Given the description of an element on the screen output the (x, y) to click on. 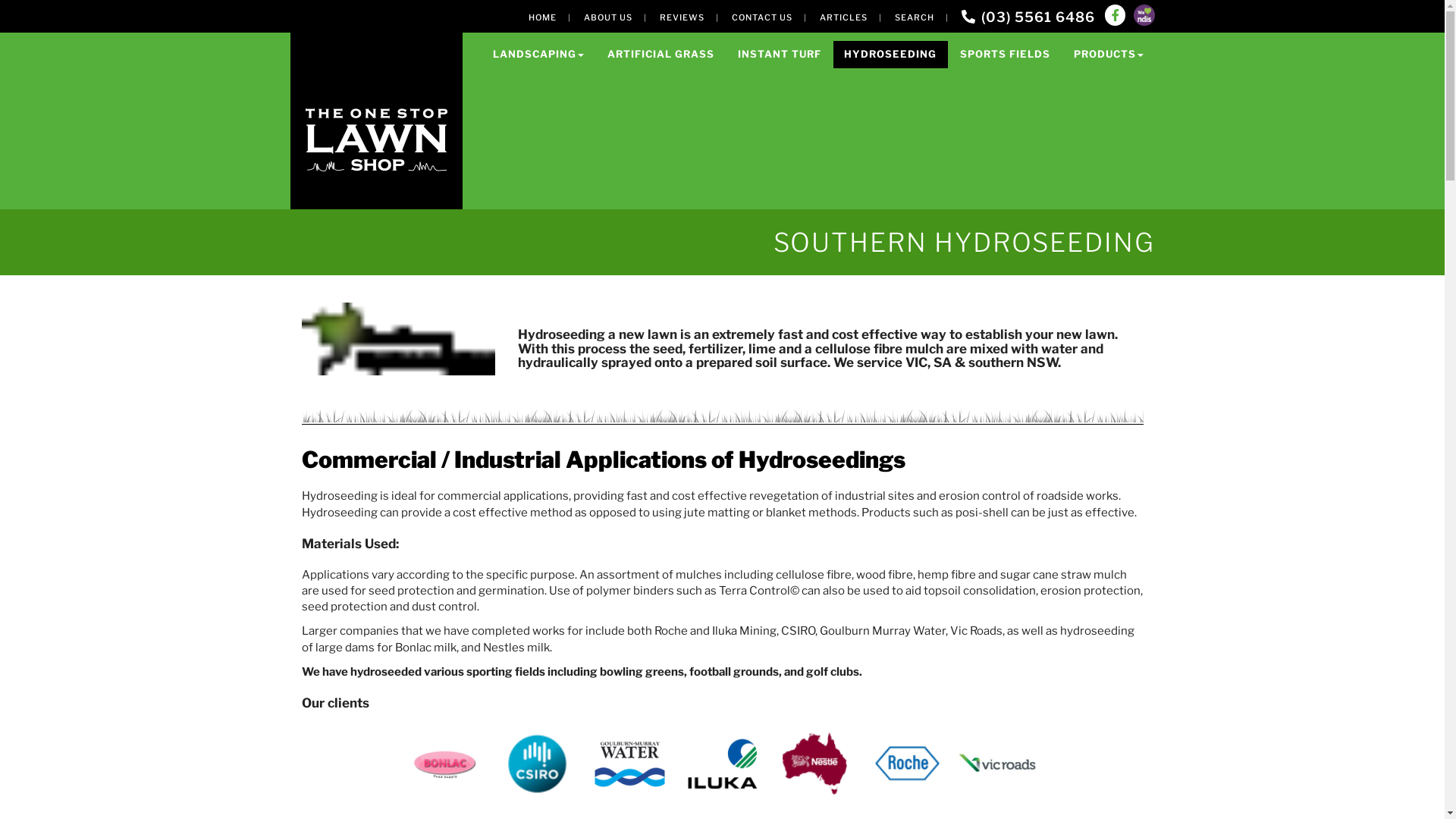
PRODUCTS Element type: text (1108, 54)
CONTACT US Element type: text (761, 17)
INSTANT TURF Element type: text (778, 54)
HOME Element type: text (541, 17)
ARTICLES Element type: text (842, 17)
HYDROSEEDING Element type: text (890, 54)
LANDSCAPING Element type: text (538, 54)
REVIEWS Element type: text (681, 17)
ARTIFICIAL GRASS Element type: text (660, 54)
SPORTS FIELDS Element type: text (1005, 54)
ABOUT US Element type: text (607, 17)
SEARCH Element type: text (914, 17)
(03) 5561 6486 Element type: text (1028, 17)
